Given the description of an element on the screen output the (x, y) to click on. 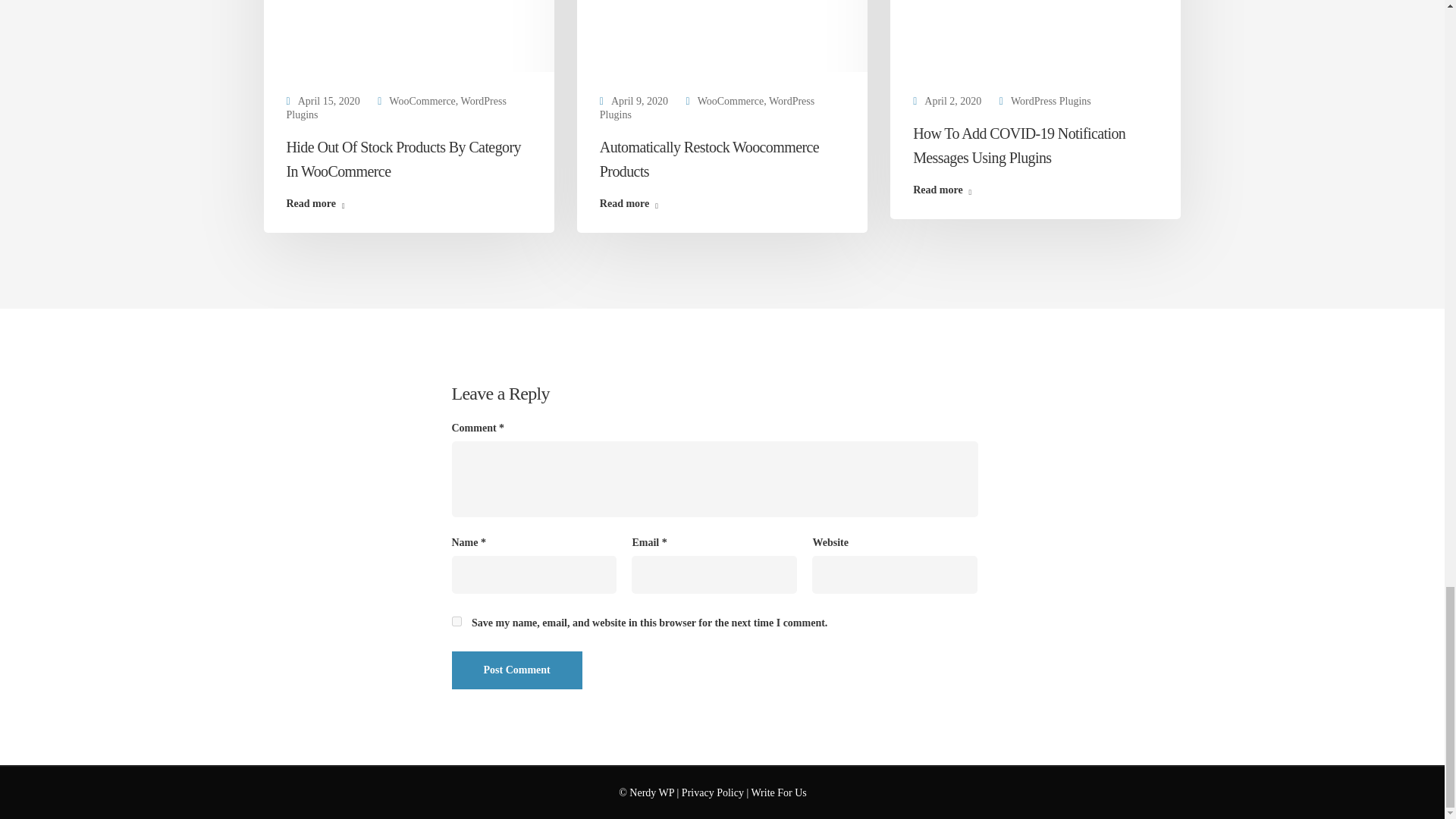
Hide Out Of Stock Products By Category In WooCommerce (328, 101)
Automatically Restock Woocommerce Products (708, 158)
Hide Out Of Stock Products By Category In WooCommerce (403, 158)
WooCommerce (421, 101)
How To Add COVID-19 Notification Messages Using Plugins (1018, 145)
Privacy Policy (712, 792)
WordPress Plugins (706, 107)
Post Comment (516, 670)
Read more (628, 204)
Post Comment (516, 670)
April 15, 2020 (328, 101)
Read more (941, 190)
April 2, 2020 (952, 101)
Hide Out Of Stock Products By Category In WooCommerce (403, 158)
Read more (315, 204)
